Given the description of an element on the screen output the (x, y) to click on. 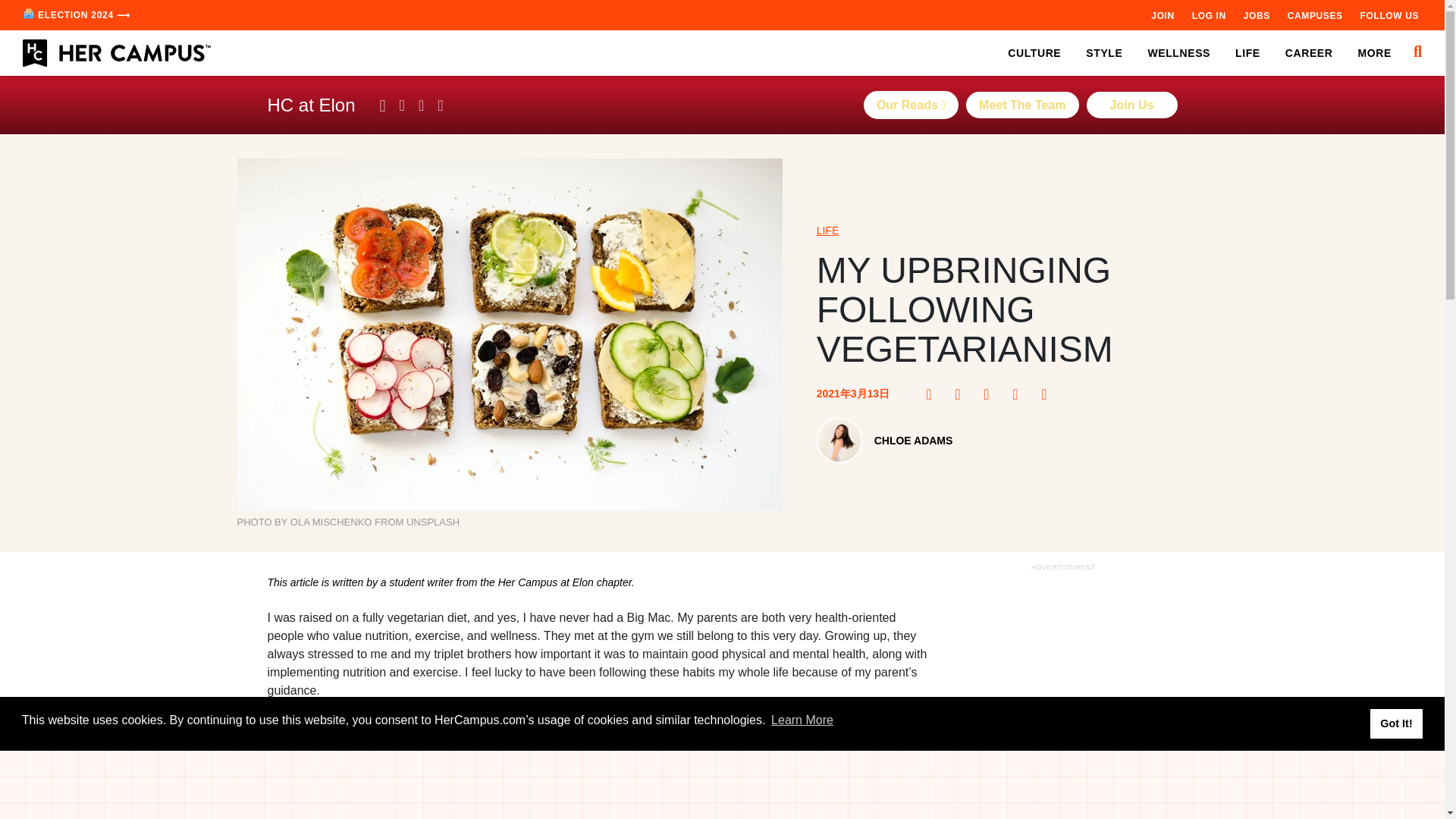
3rd party ad content (597, 814)
Twitter (991, 393)
JOIN (1162, 15)
CAMPUSES (1314, 15)
Facebook (933, 393)
3rd party ad content (1062, 696)
Got It! (1396, 723)
Email (1049, 393)
JOBS (1256, 15)
LOG IN (1208, 15)
LinkedIn (1019, 393)
Pinterest (962, 393)
3rd party ad content (722, 785)
